Given the description of an element on the screen output the (x, y) to click on. 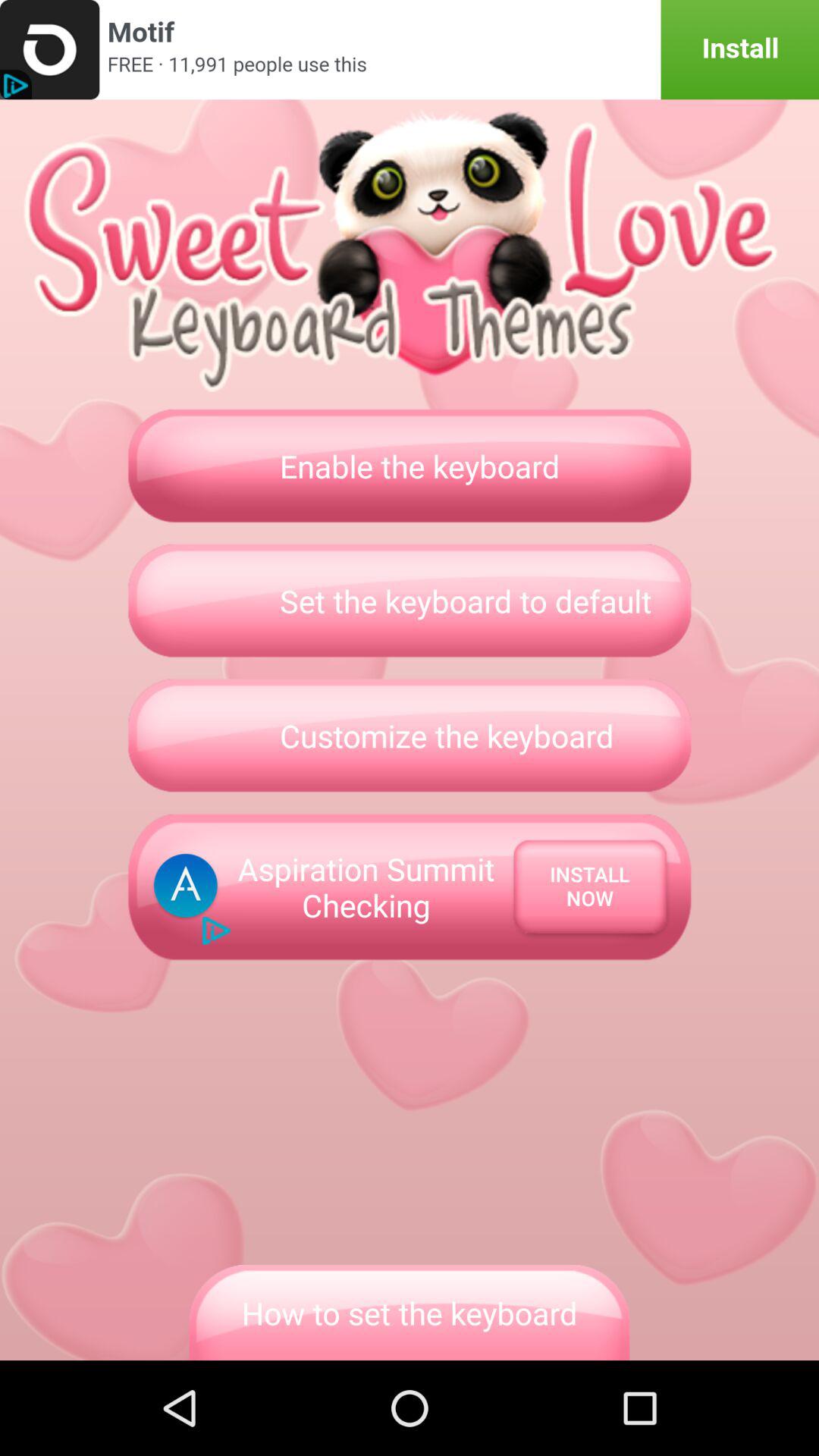
click install (409, 49)
